Given the description of an element on the screen output the (x, y) to click on. 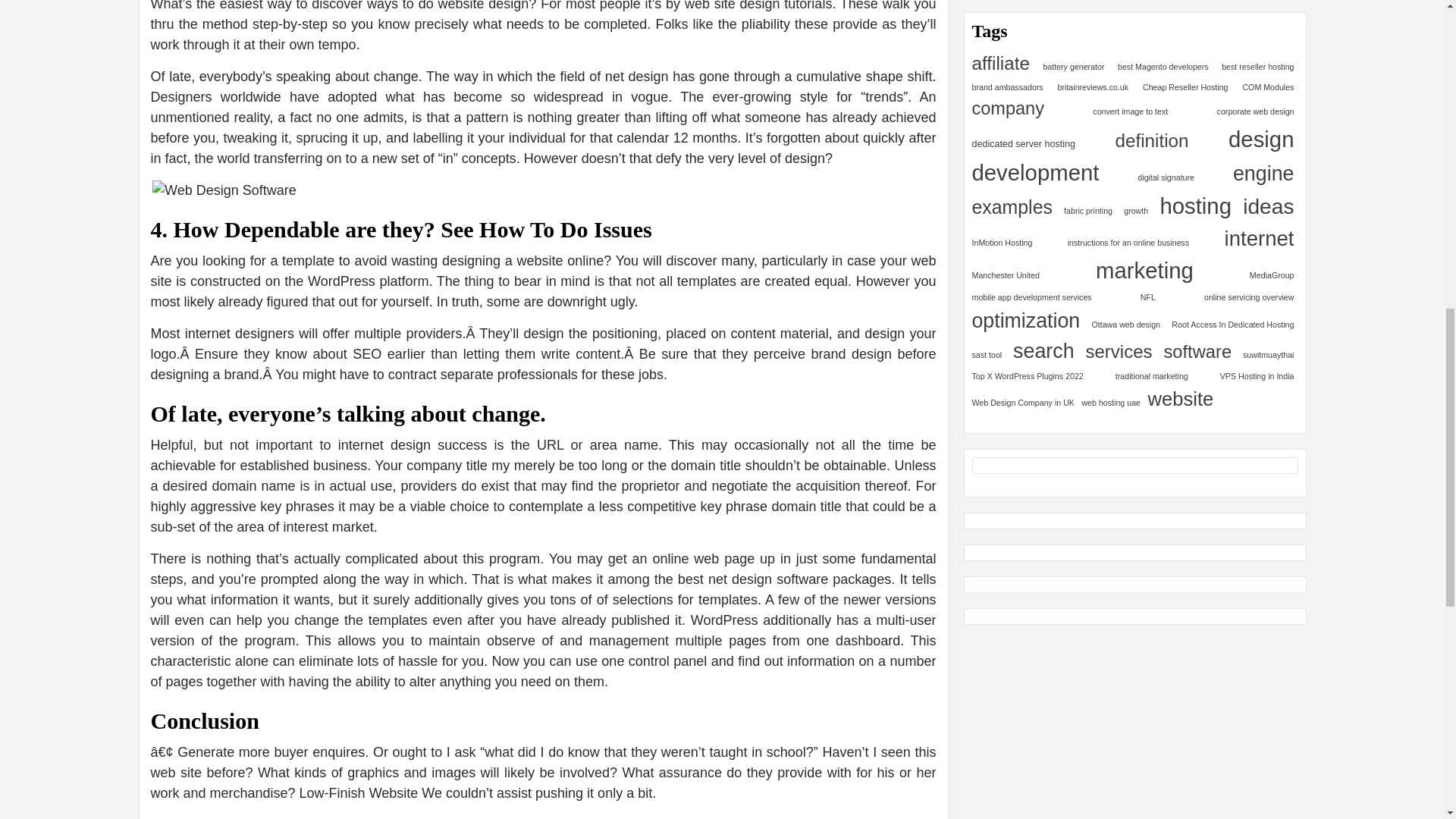
The Close-guarded Strategies For Web Design Software Exposed (543, 190)
